Given the description of an element on the screen output the (x, y) to click on. 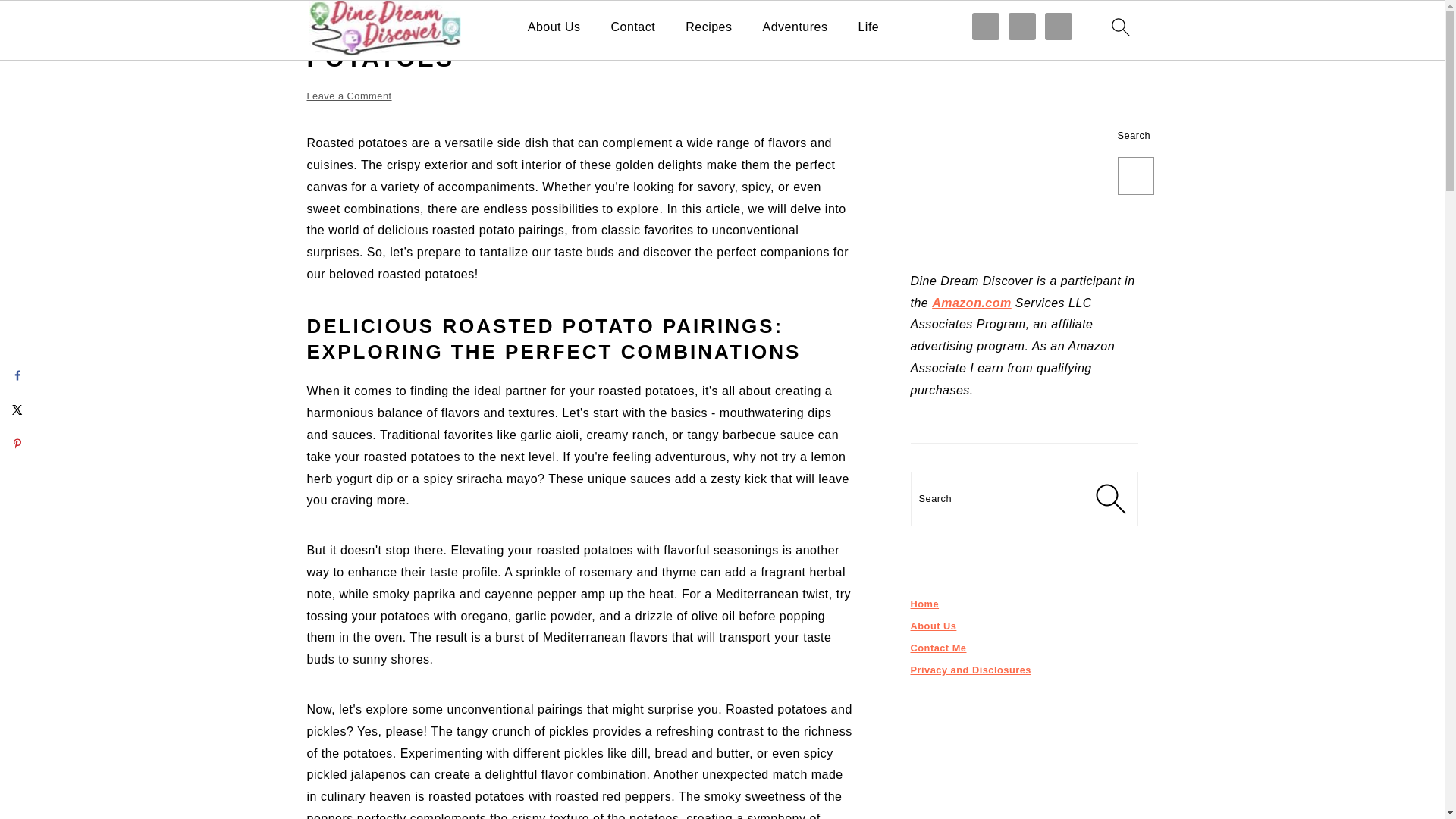
About Us (553, 26)
Recipes (708, 26)
Save to Pinterest (16, 442)
Contact (633, 26)
Share on X (16, 409)
Life (868, 26)
search icon (1119, 26)
Share on Facebook (16, 374)
Adventures (795, 26)
